Given the description of an element on the screen output the (x, y) to click on. 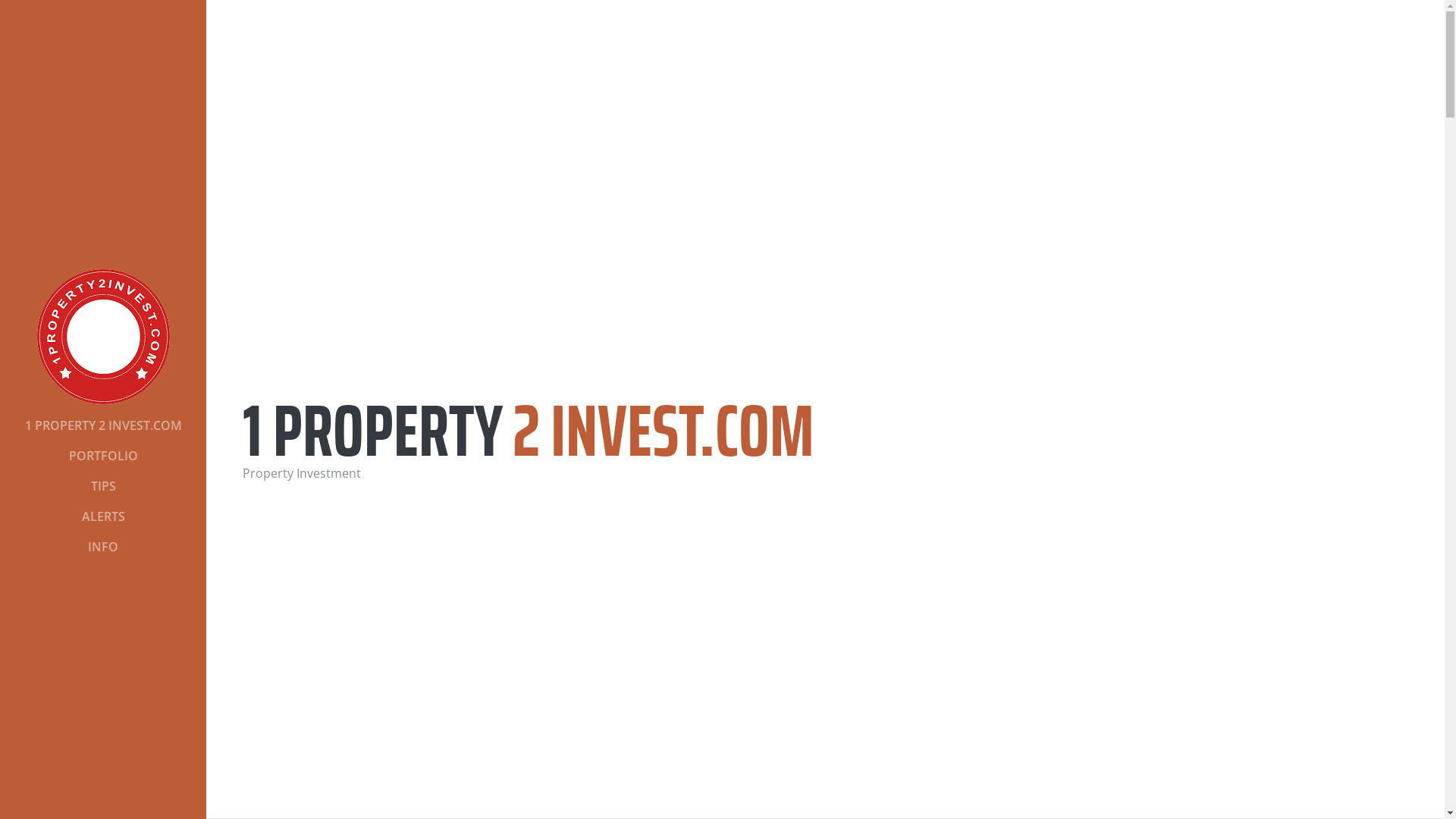
PORTFOLIO Element type: text (103, 455)
ALERTS Element type: text (103, 516)
TIPS Element type: text (103, 485)
1 PROPERTY 2 INVEST.COM Element type: text (103, 425)
INFO Element type: text (103, 546)
